Given the description of an element on the screen output the (x, y) to click on. 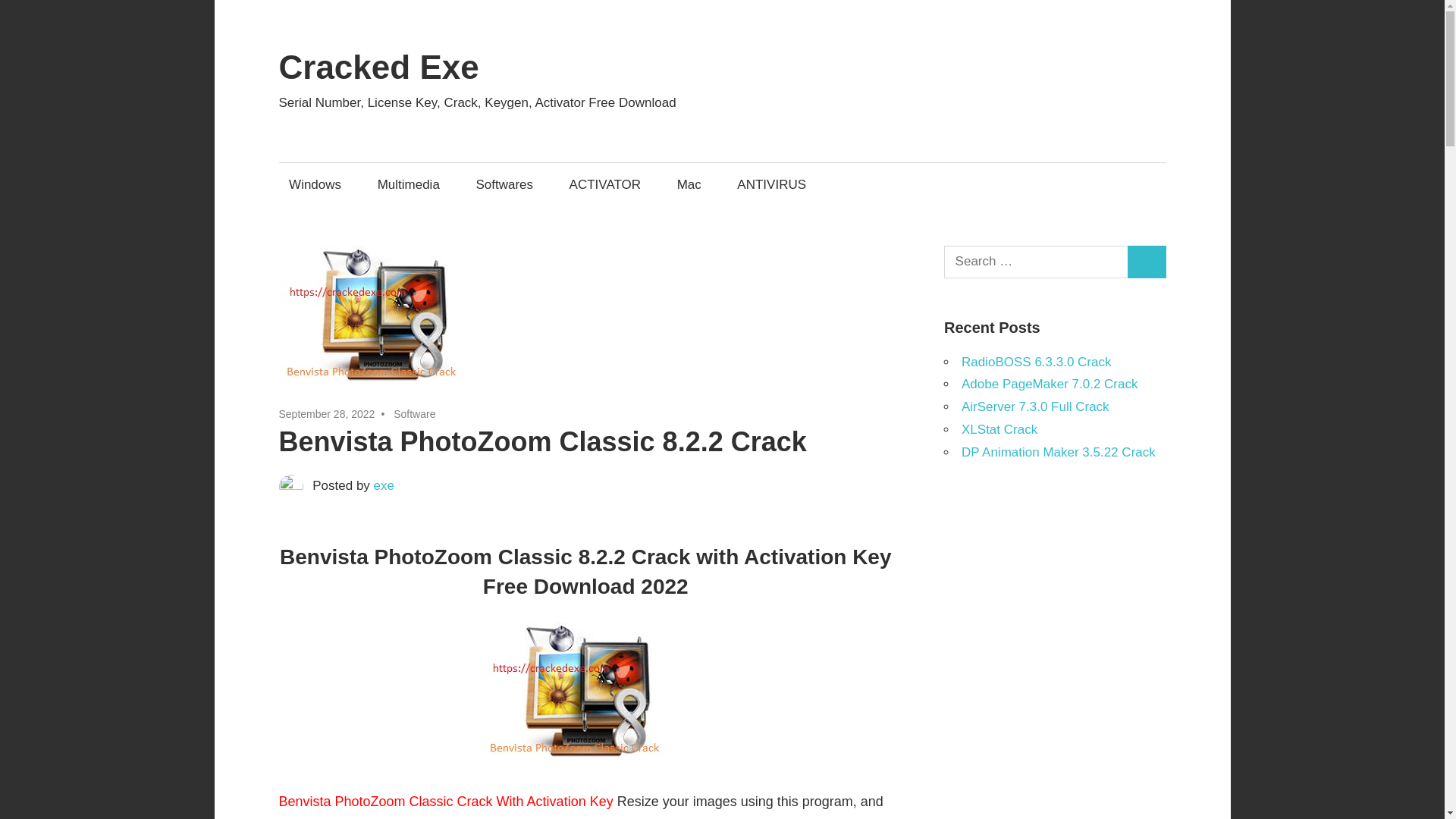
Cracked Exe (379, 66)
8:18 am (327, 413)
AirServer 7.3.0 Full Crack (1034, 406)
exe (384, 485)
Search (1146, 261)
Adobe PageMaker 7.0.2 Crack (1048, 383)
Software (414, 413)
RadioBOSS 6.3.3.0 Crack (1035, 361)
Windows (315, 184)
Mac (688, 184)
ANTIVIRUS (771, 184)
DP Animation Maker 3.5.22 Crack (1058, 451)
Softwares (504, 184)
Search for: (1035, 261)
Multimedia (407, 184)
